Given the description of an element on the screen output the (x, y) to click on. 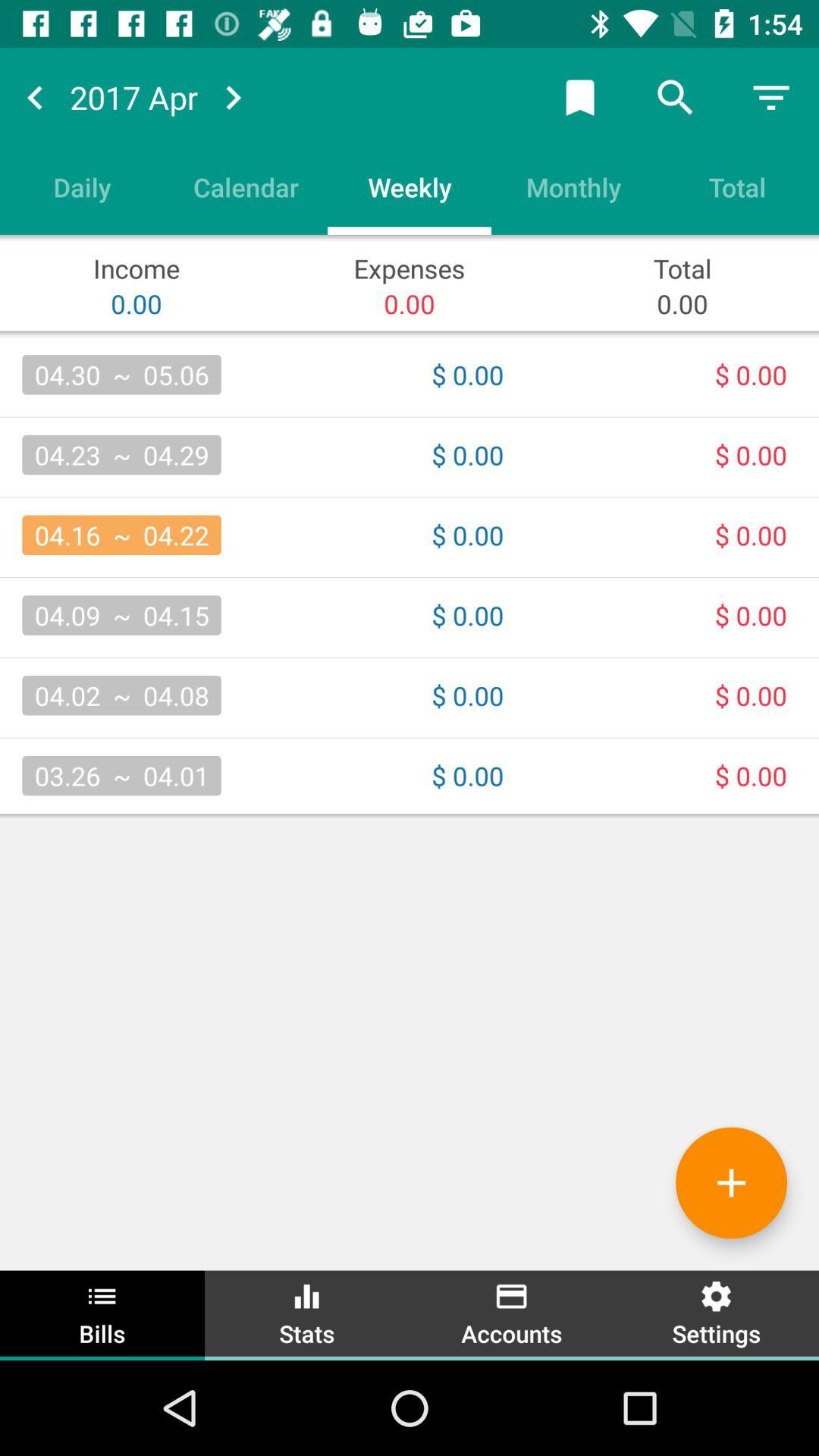
filter (771, 97)
